Given the description of an element on the screen output the (x, y) to click on. 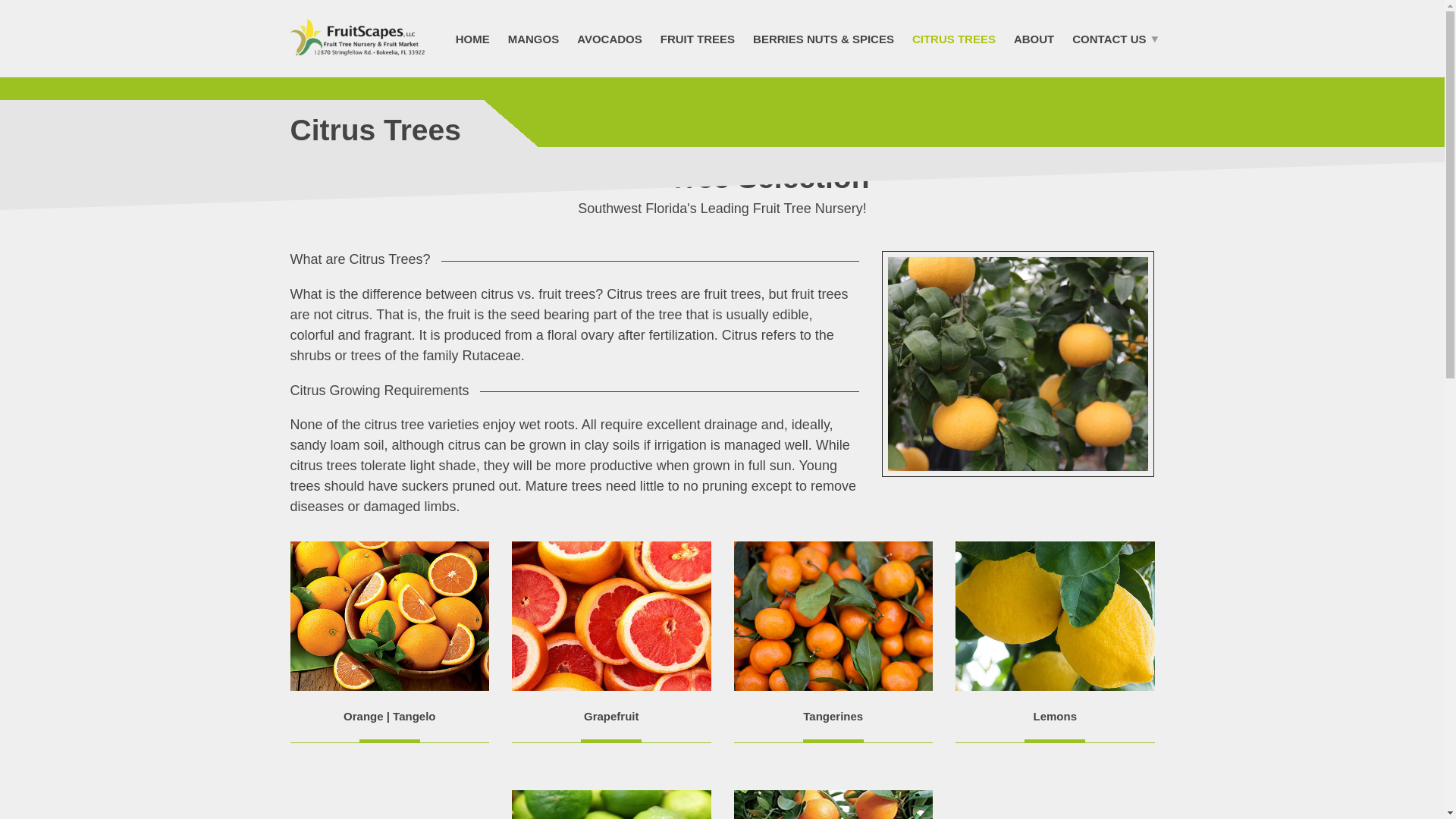
FRUIT TREES (697, 38)
AVOCADOS (608, 38)
Citrus Trees (953, 38)
Mangos (534, 38)
HOME (472, 38)
Fruit Trees (697, 38)
Contact Us (1111, 38)
Grapefruit (611, 716)
MANGOS (534, 38)
Avocados (608, 38)
Tangerines (833, 716)
Home (472, 38)
ABOUT (1033, 38)
CITRUS TREES (953, 38)
About (1033, 38)
